Given the description of an element on the screen output the (x, y) to click on. 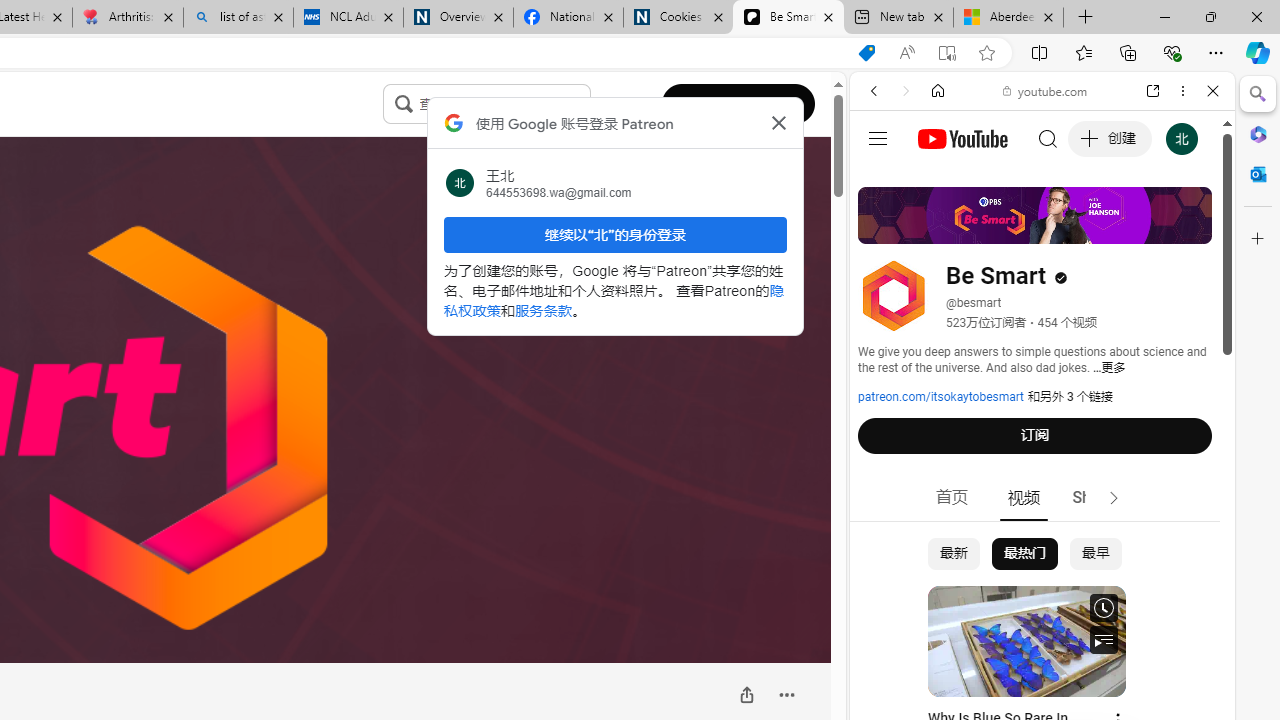
Show More Music (1164, 546)
